Given the description of an element on the screen output the (x, y) to click on. 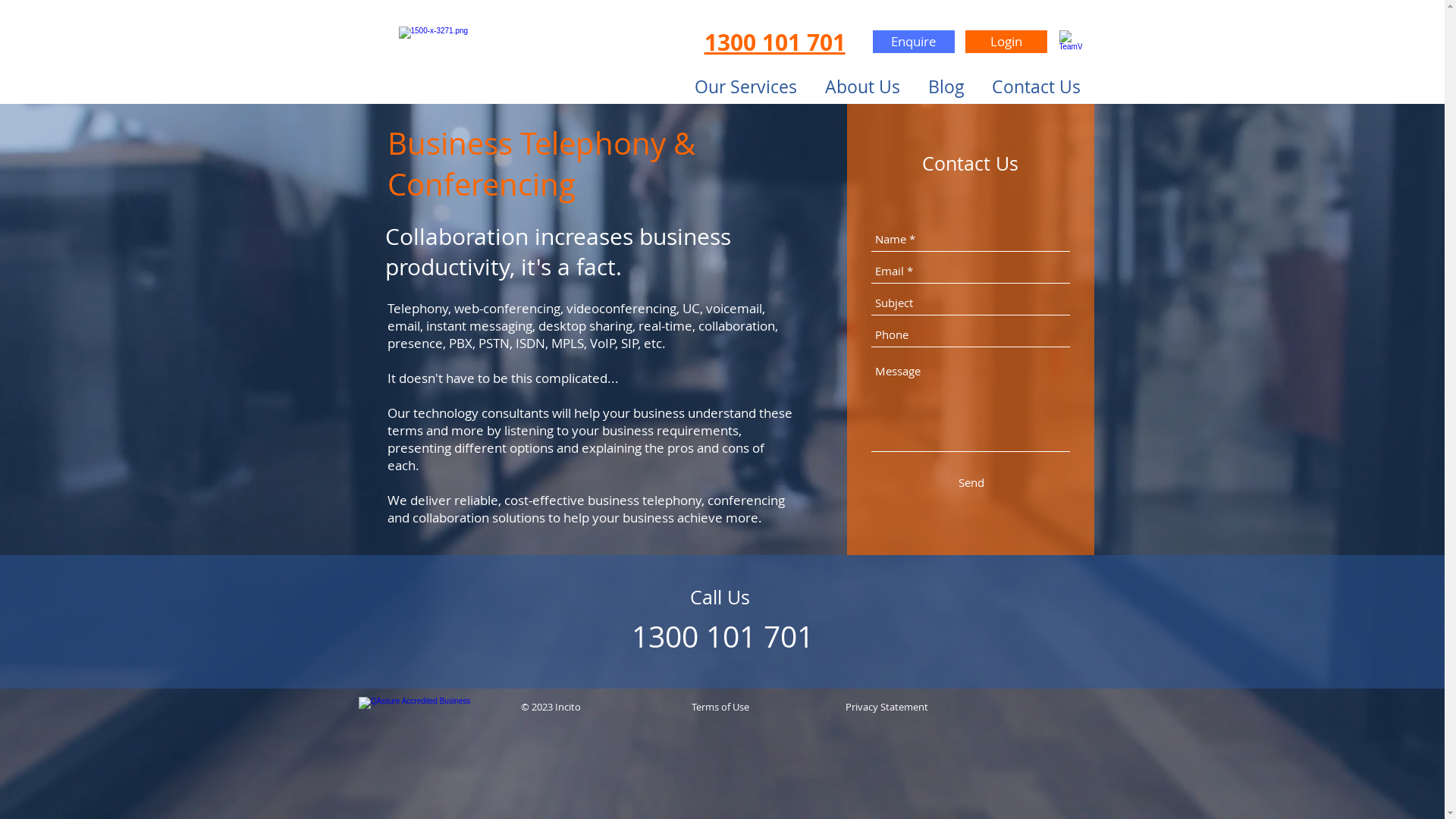
Enquire Element type: text (912, 41)
Contact Us Element type: text (1035, 86)
QAssure Accreditation Element type: hover (418, 710)
Send Element type: text (970, 482)
1300 101 701 Element type: text (773, 42)
Blog Element type: text (946, 86)
Our Services Element type: text (745, 86)
Login Element type: text (1005, 41)
About Us Element type: text (862, 86)
1300 101 701 Element type: text (722, 635)
Terms of Use Element type: text (720, 706)
Privacy Statement Element type: text (886, 706)
